Given the description of an element on the screen output the (x, y) to click on. 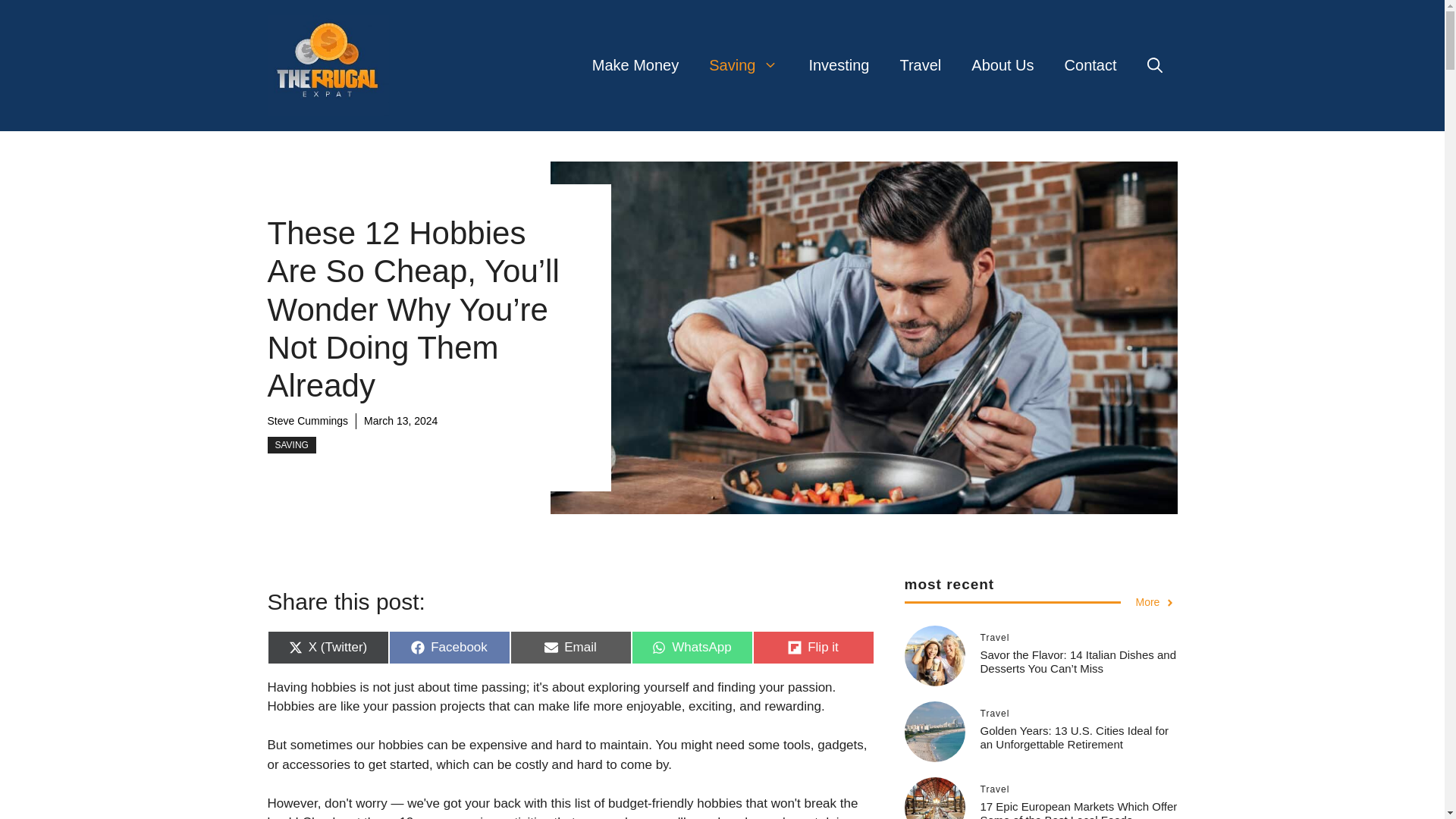
More (569, 647)
Make Money (1155, 602)
SAVING (691, 647)
About Us (448, 647)
Contact (635, 64)
Travel (290, 444)
